Given the description of an element on the screen output the (x, y) to click on. 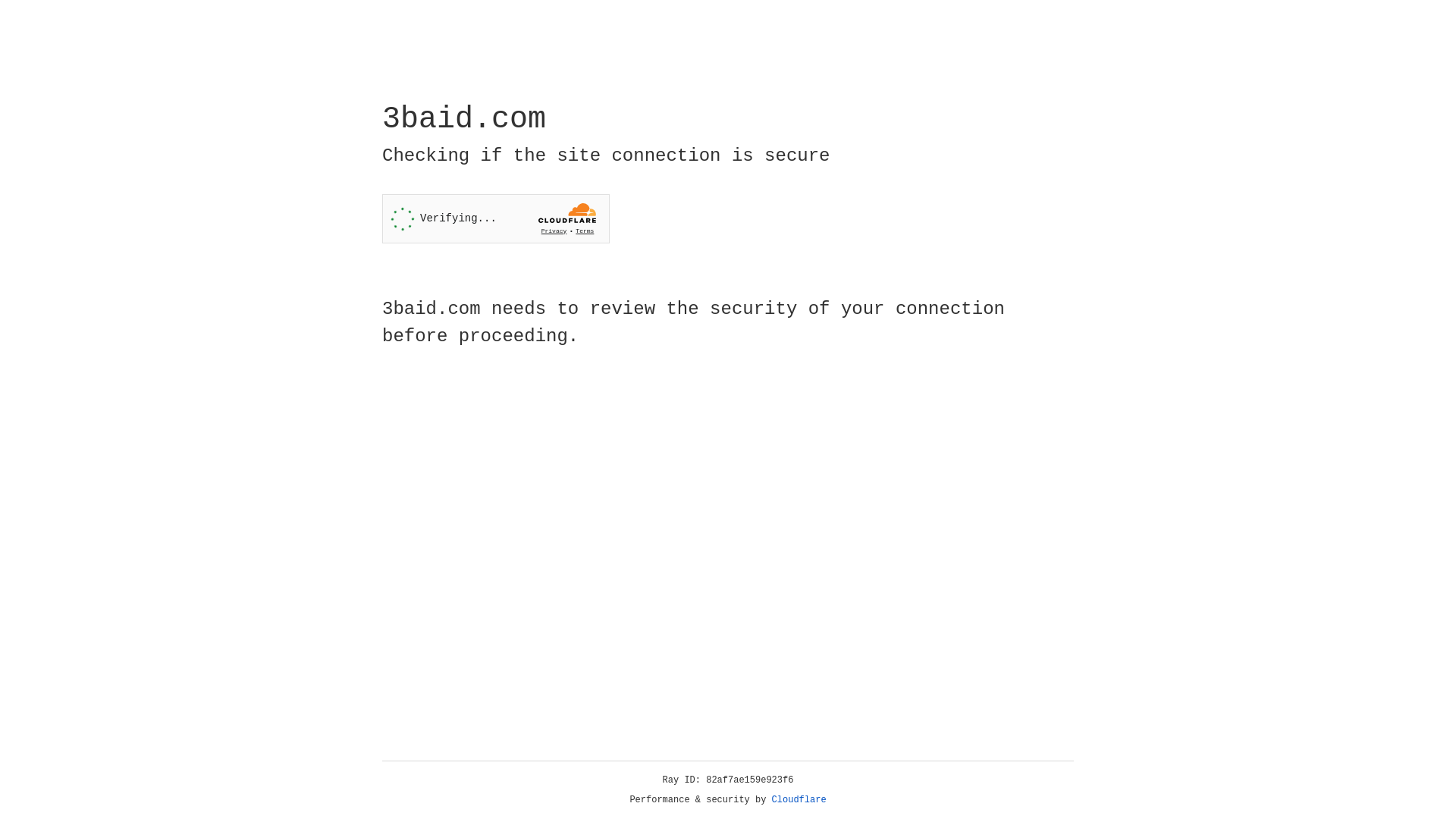
Cloudflare Element type: text (798, 799)
Widget containing a Cloudflare security challenge Element type: hover (495, 218)
